Given the description of an element on the screen output the (x, y) to click on. 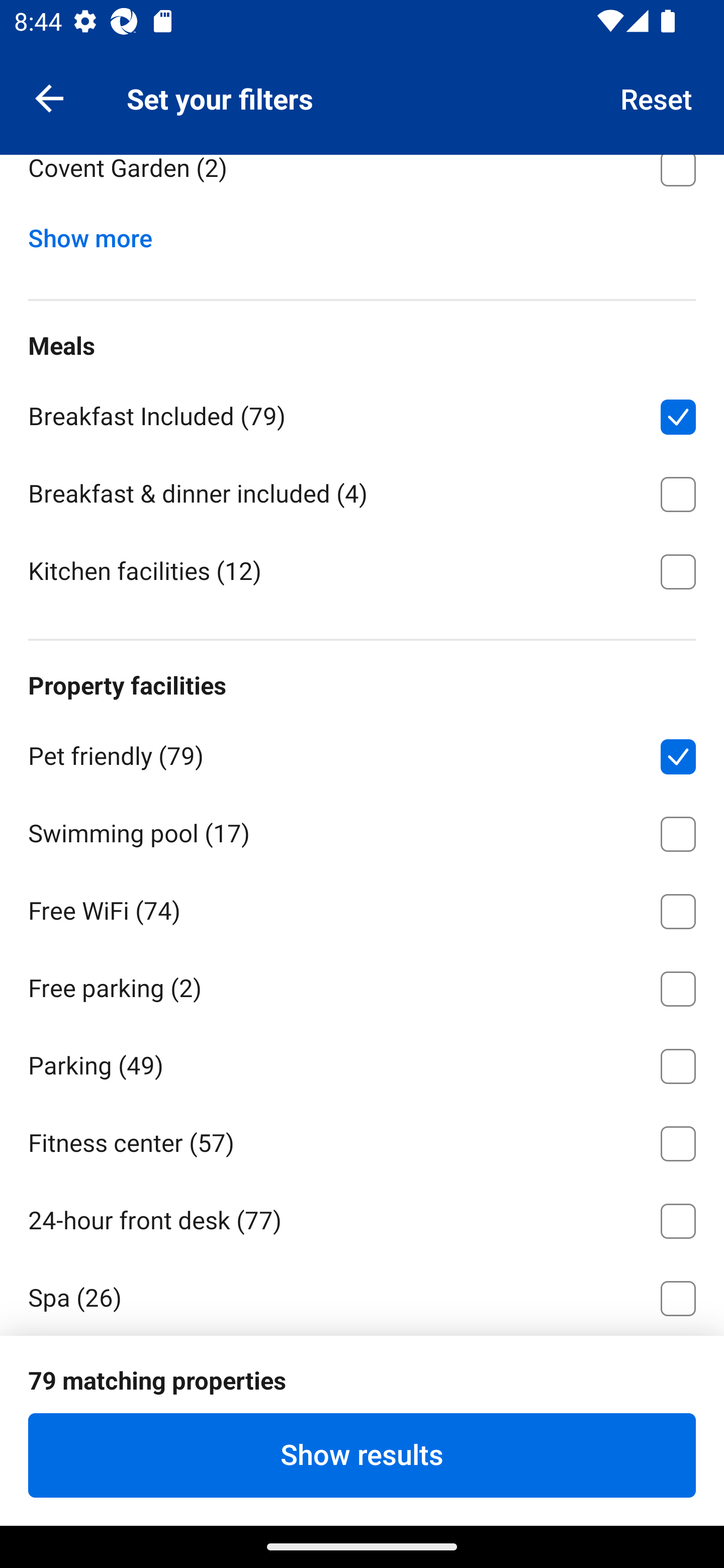
Navigate up (49, 97)
Kensington and Chelsea ⁦(10) (361, 87)
Reset (656, 97)
Covent Garden ⁦(2) (361, 183)
Show more (97, 234)
Breakfast Included ⁦(79) (361, 412)
Breakfast & dinner included ⁦(4) (361, 490)
Kitchen facilities ⁦(12) (361, 569)
Pet friendly ⁦(79) (361, 753)
Swimming pool ⁦(17) (361, 829)
Free WiFi ⁦(74) (361, 907)
Free parking ⁦(2) (361, 985)
Parking ⁦(49) (361, 1062)
Fitness center ⁦(57) (361, 1140)
24-hour front desk ⁦(77) (361, 1217)
Spa ⁦(26) (361, 1294)
Show results (361, 1454)
